Given the description of an element on the screen output the (x, y) to click on. 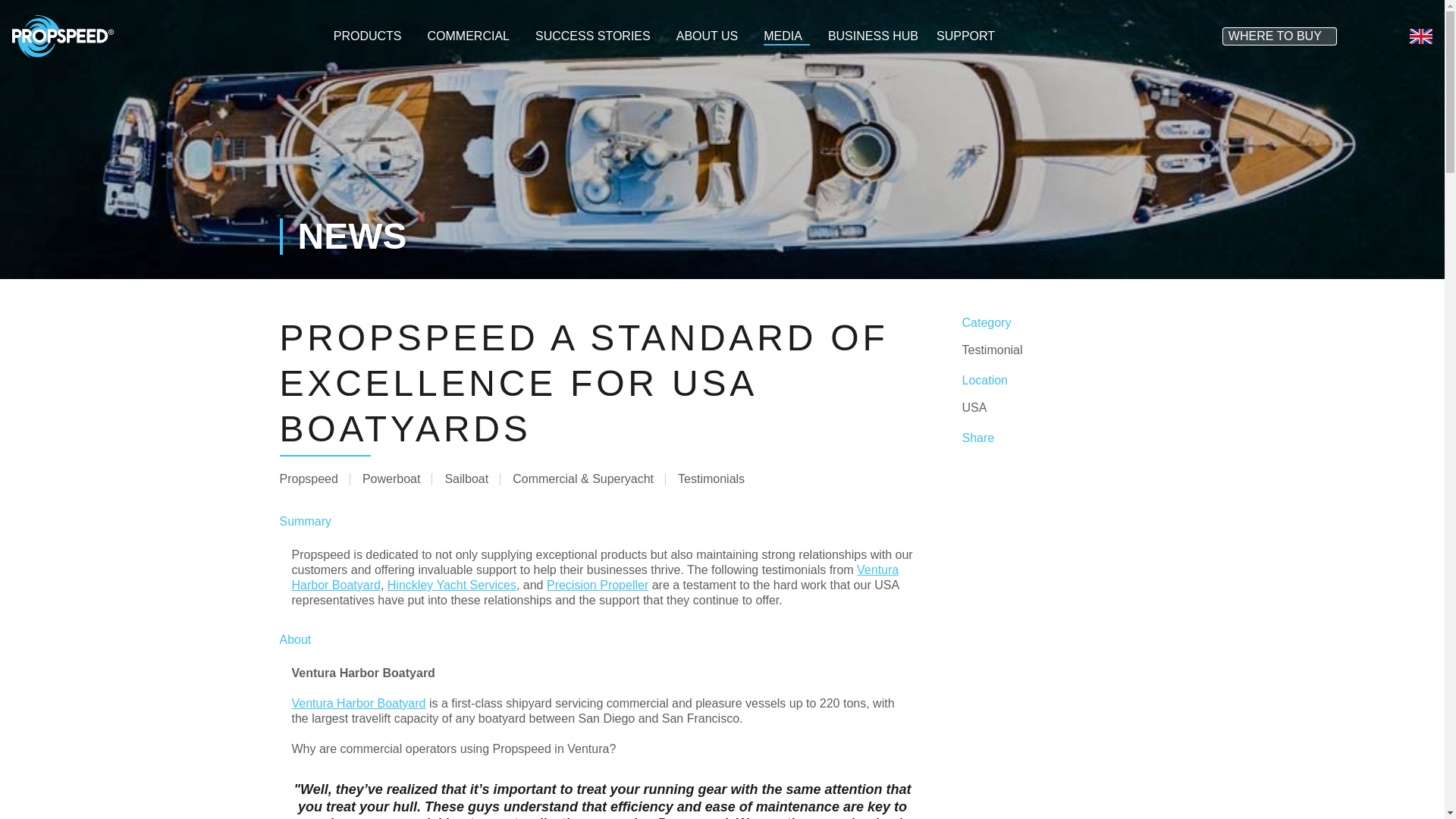
SUCCESS STORIES (596, 36)
PRODUCTS (371, 36)
ABOUT US (711, 36)
Return to Propspeed home page (62, 34)
COMMERCIAL (472, 36)
